Given the description of an element on the screen output the (x, y) to click on. 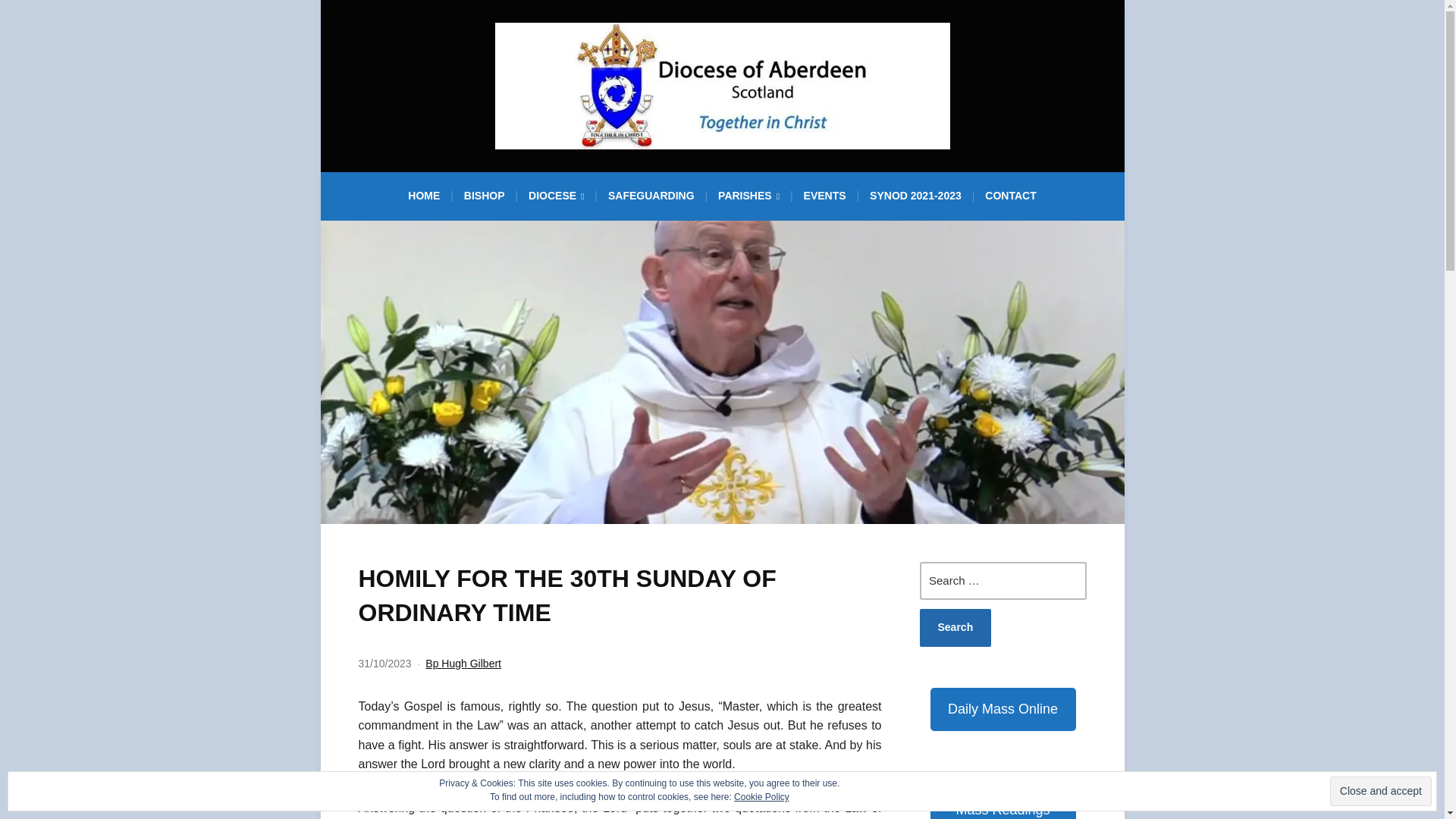
BISHOP (484, 199)
DIOCESE (555, 200)
Search (954, 627)
Close and accept (1380, 790)
Search (954, 627)
HOME (423, 199)
